Given the description of an element on the screen output the (x, y) to click on. 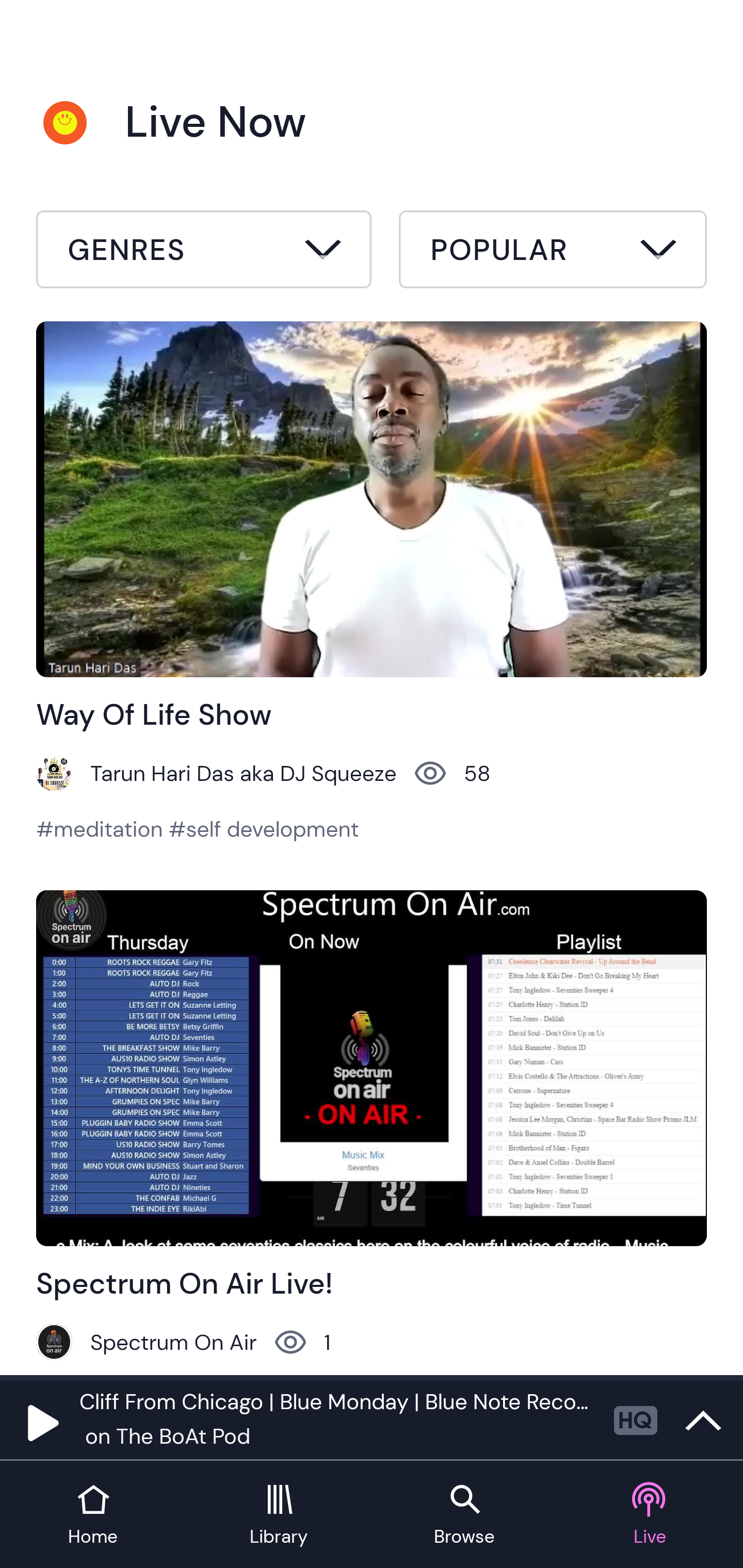
Filter by button All (203, 252)
Sort by button Popular (552, 252)
Home tab Home (92, 1515)
Library tab Library (278, 1515)
Browse tab Browse (464, 1515)
Live tab Live (650, 1515)
